Given the description of an element on the screen output the (x, y) to click on. 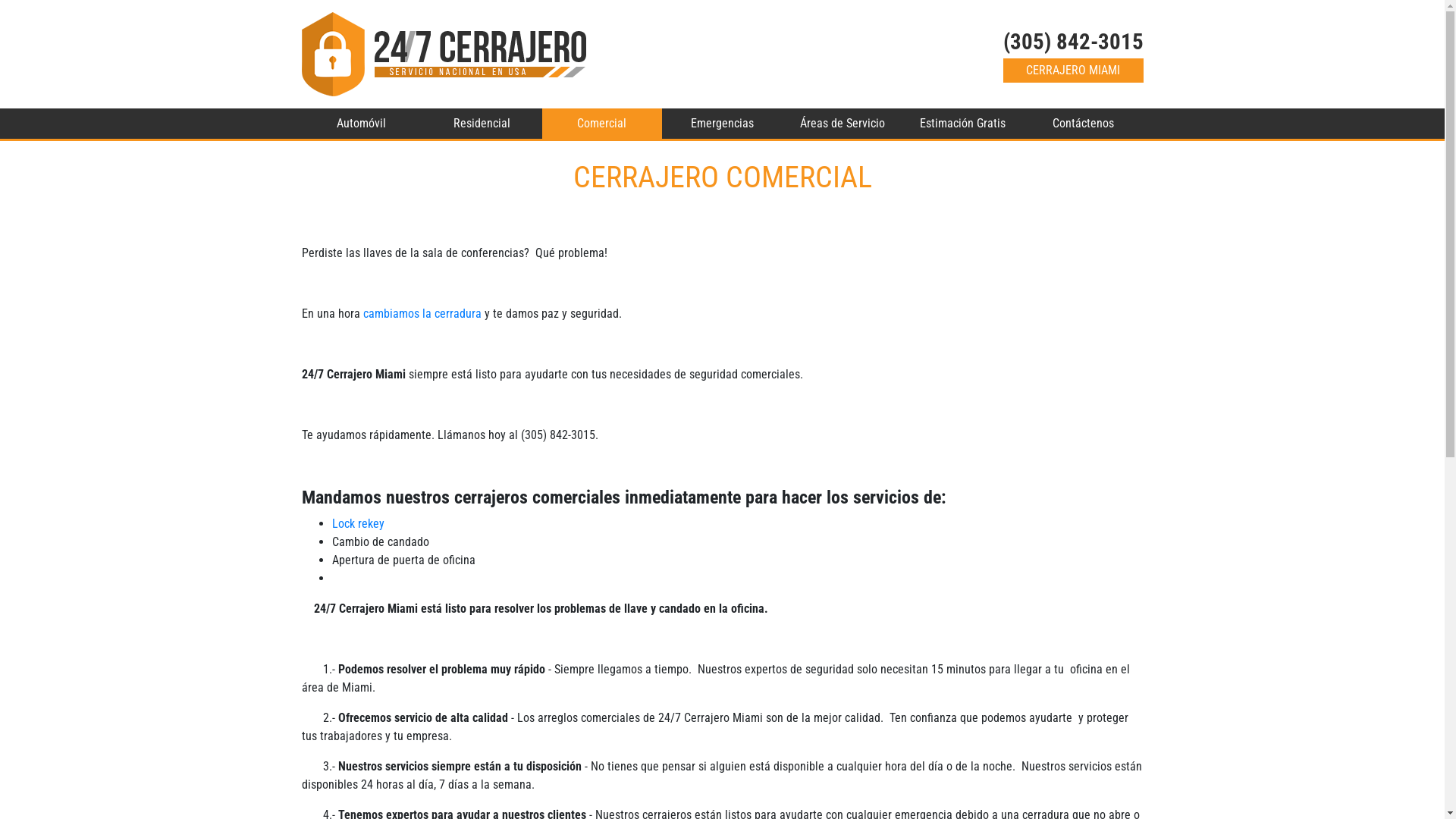
cambiamos la cerradura Element type: text (421, 313)
(305) 842-3015 Element type: text (1072, 41)
Residencial Element type: text (481, 123)
Emergencias Element type: text (722, 123)
Home Element type: hover (443, 53)
Comercial Element type: text (602, 123)
Home Element type: hover (443, 54)
Lock rekey Element type: text (358, 523)
